Given the description of an element on the screen output the (x, y) to click on. 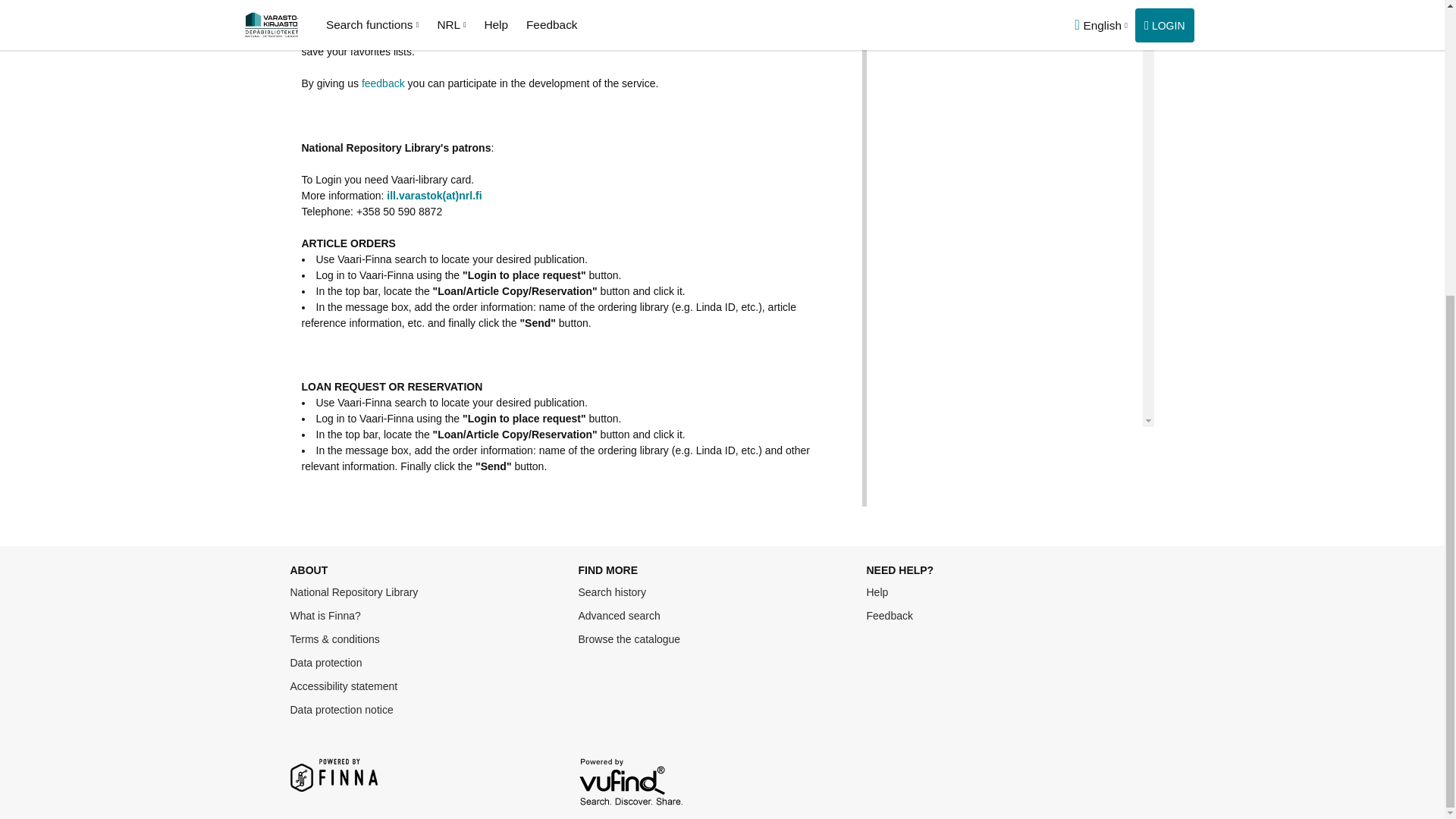
Search Tips (877, 592)
